Given the description of an element on the screen output the (x, y) to click on. 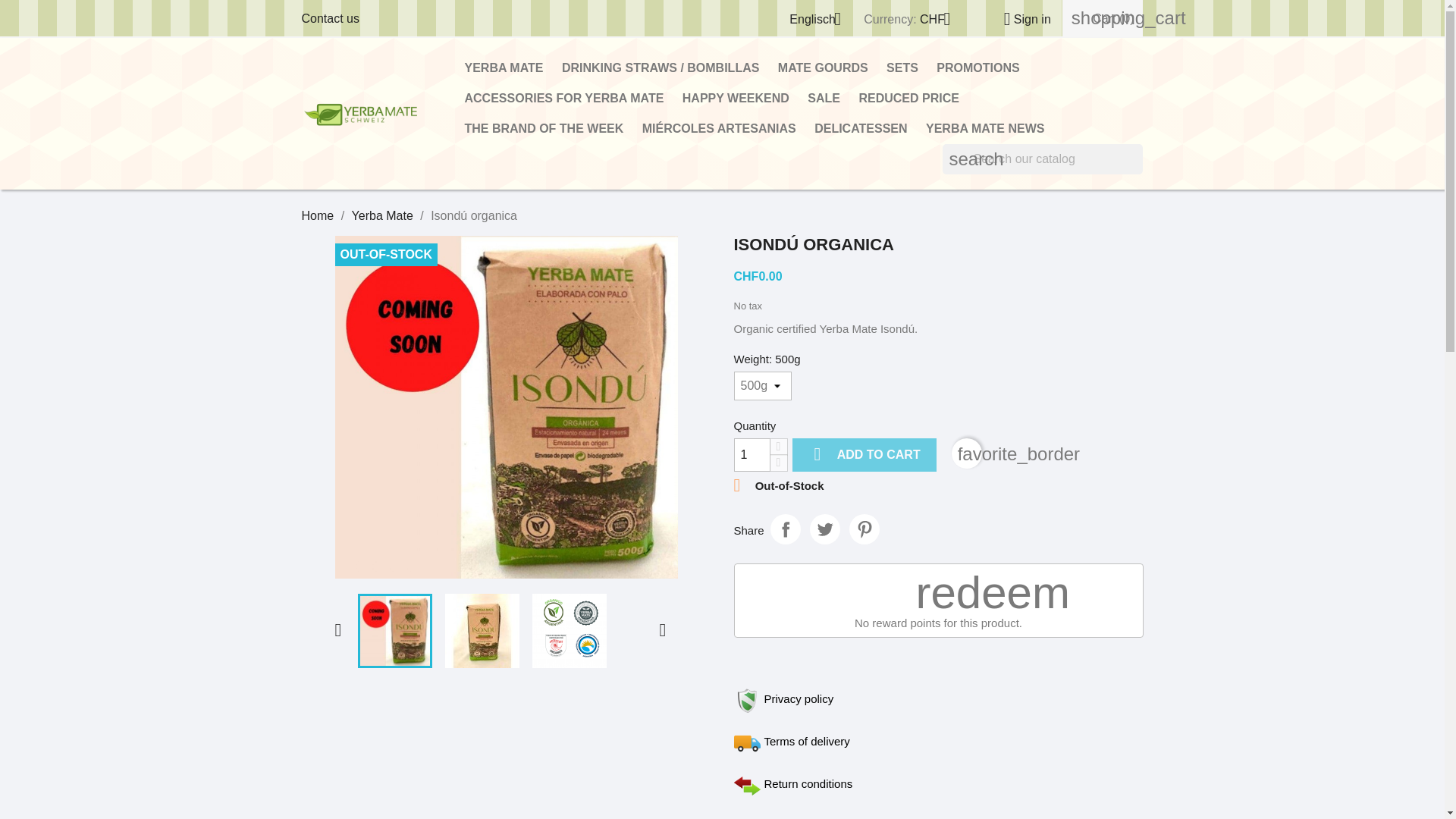
Pinterest (863, 529)
Yerba Mate (382, 215)
HAPPY WEEKEND (735, 98)
DELICATESSEN (860, 128)
REDUCED PRICE (908, 98)
ACCESSORIES FOR YERBA MATE (564, 98)
Contact us (330, 18)
YERBA MATE (503, 68)
PROMOTIONS (977, 68)
YERBA MATE NEWS (984, 128)
